Given the description of an element on the screen output the (x, y) to click on. 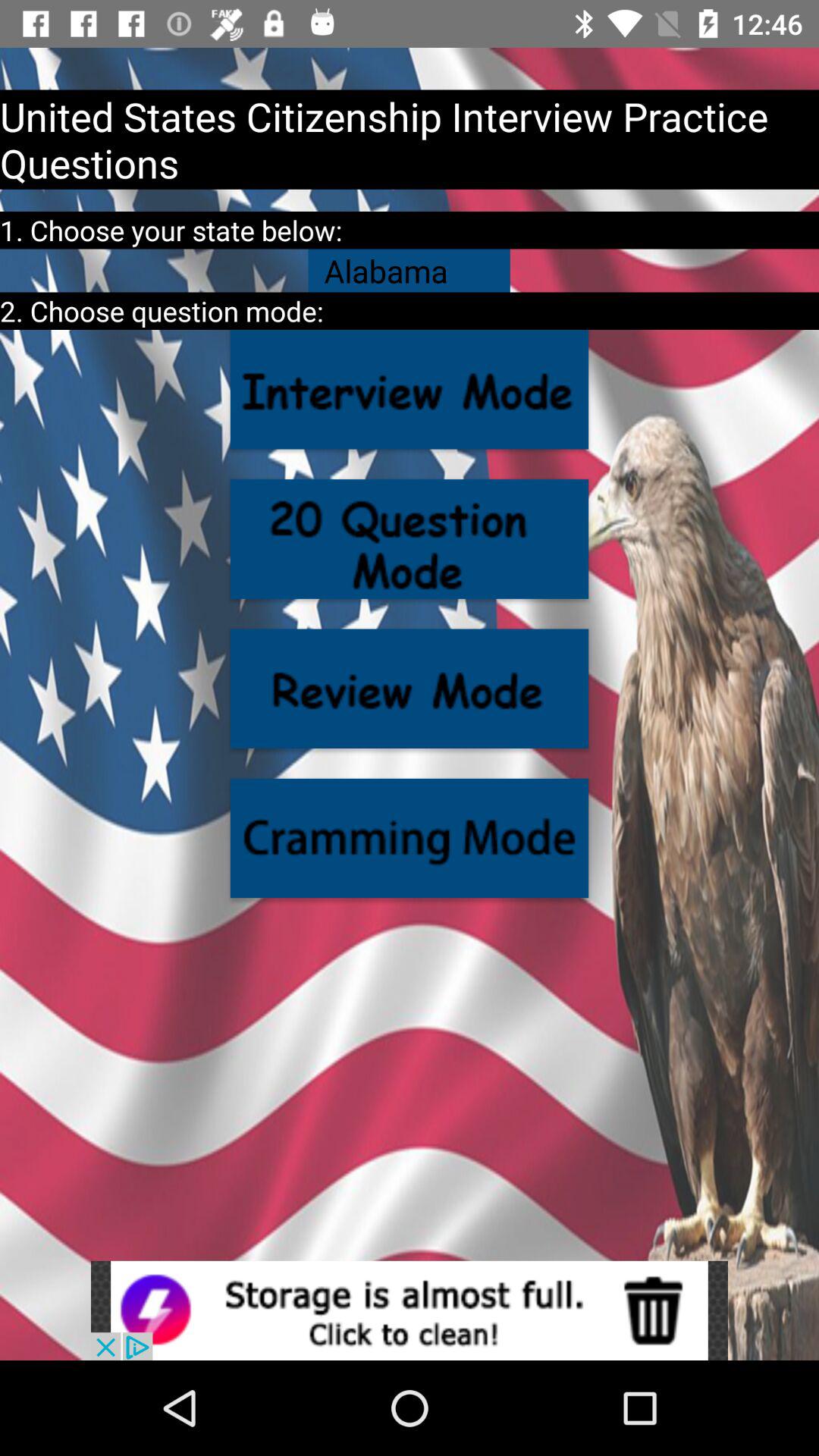
show interview details (409, 389)
